Given the description of an element on the screen output the (x, y) to click on. 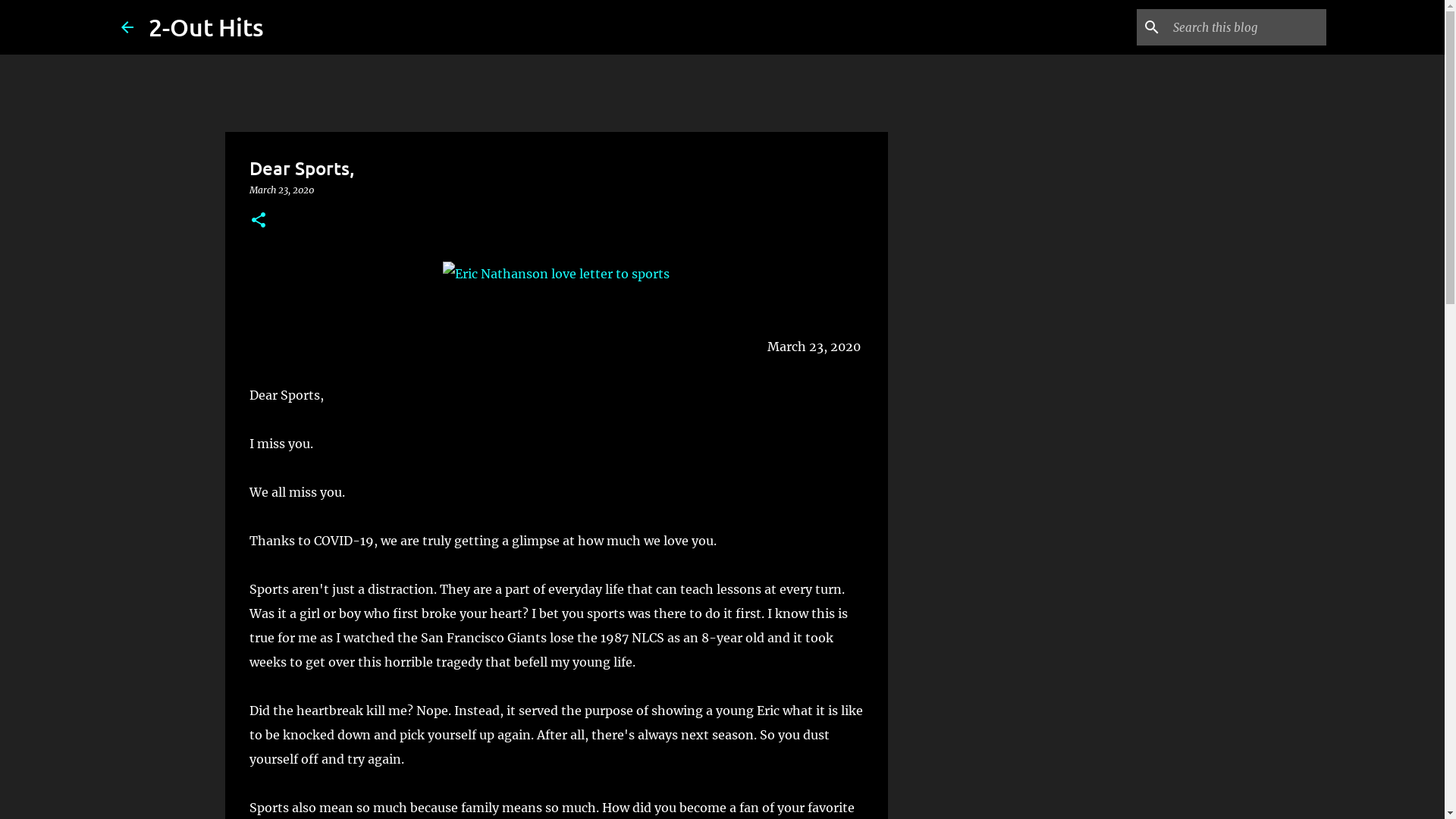
Dear sports, 2outhits Element type: hover (555, 273)
March 23, 2020 Element type: text (280, 189)
2-Out Hits Element type: text (205, 26)
